Given the description of an element on the screen output the (x, y) to click on. 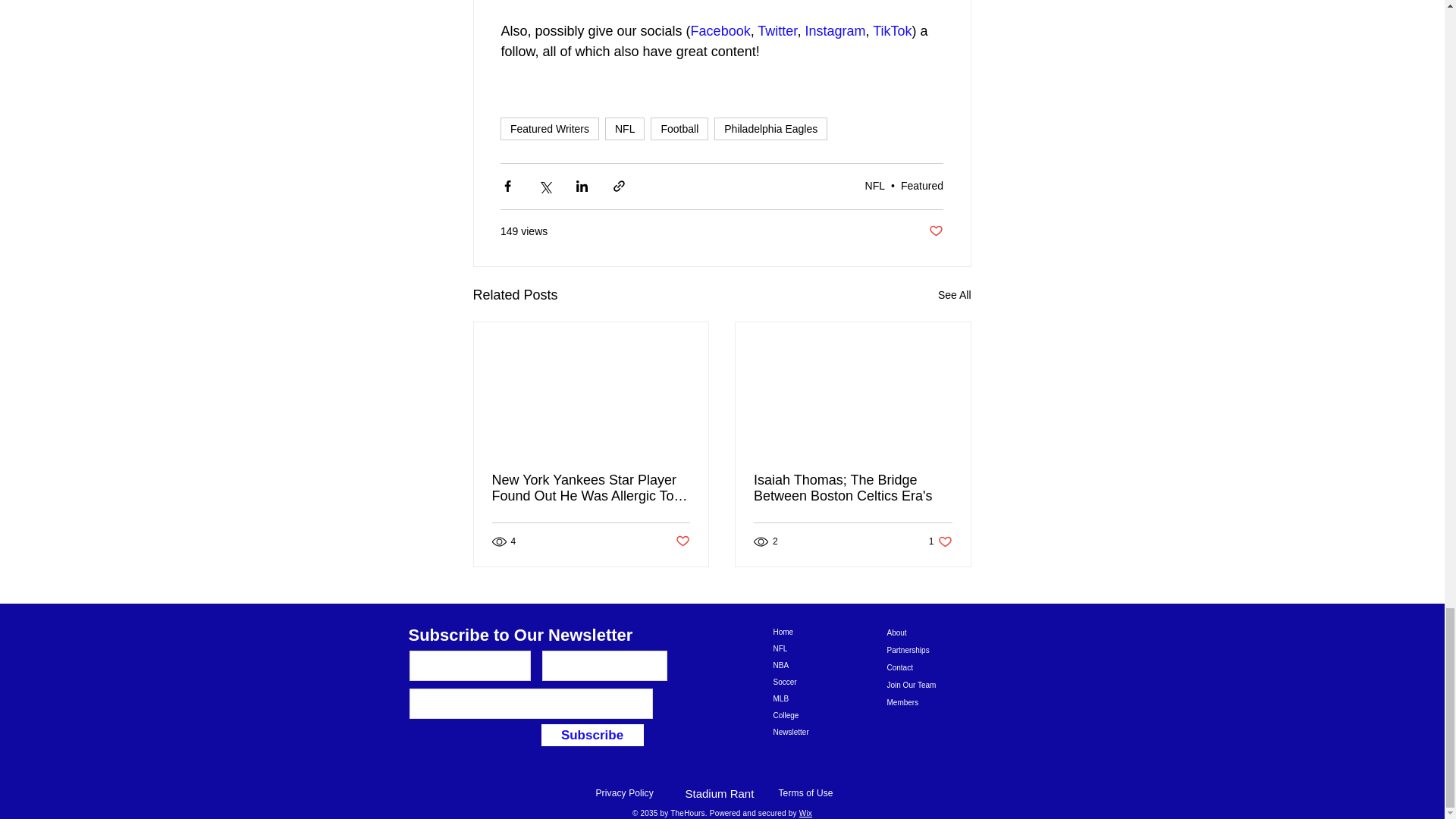
Philadelphia Eagles (770, 128)
Featured Writers (549, 128)
TikTok (891, 30)
Facebook (719, 30)
NFL (625, 128)
Post not marked as liked (935, 231)
NFL (874, 185)
Football (678, 128)
Twitter (776, 30)
Featured (922, 185)
